Given the description of an element on the screen output the (x, y) to click on. 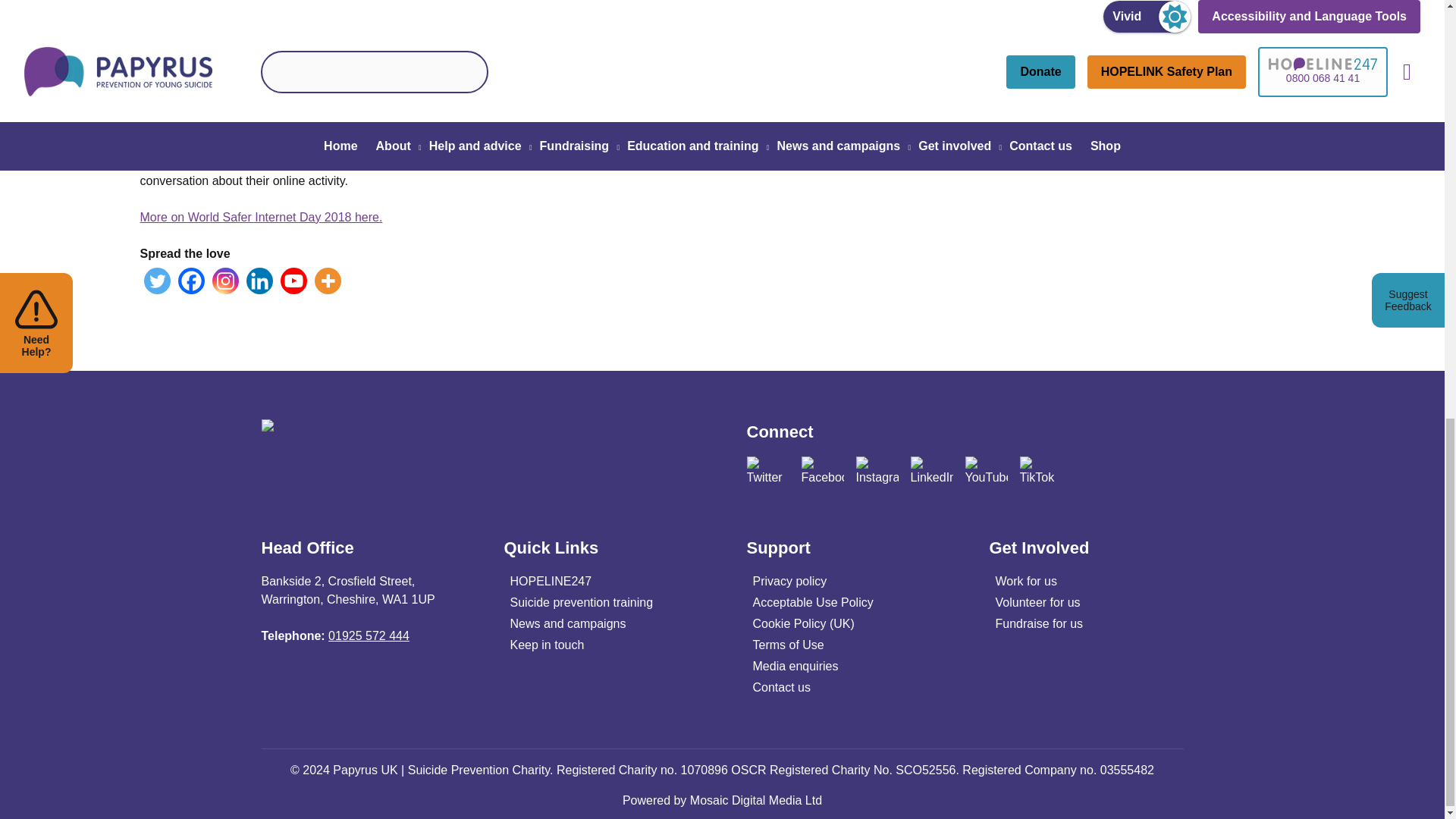
Linkedin (259, 280)
Facebook (190, 280)
Twitter (157, 280)
Instagram (225, 280)
Youtube (294, 280)
More (327, 280)
